Given the description of an element on the screen output the (x, y) to click on. 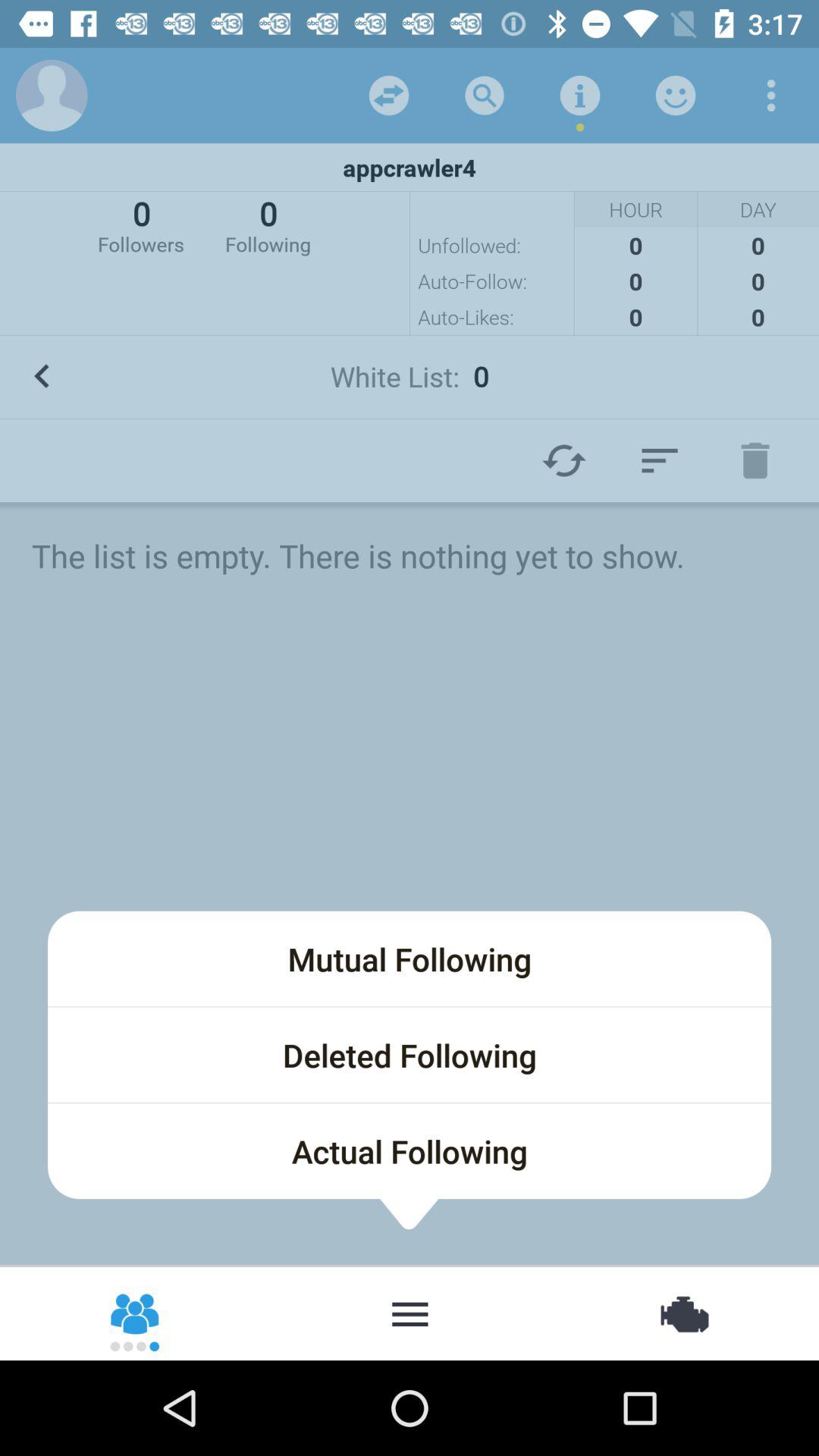
press the 0
followers item (140, 224)
